Given the description of an element on the screen output the (x, y) to click on. 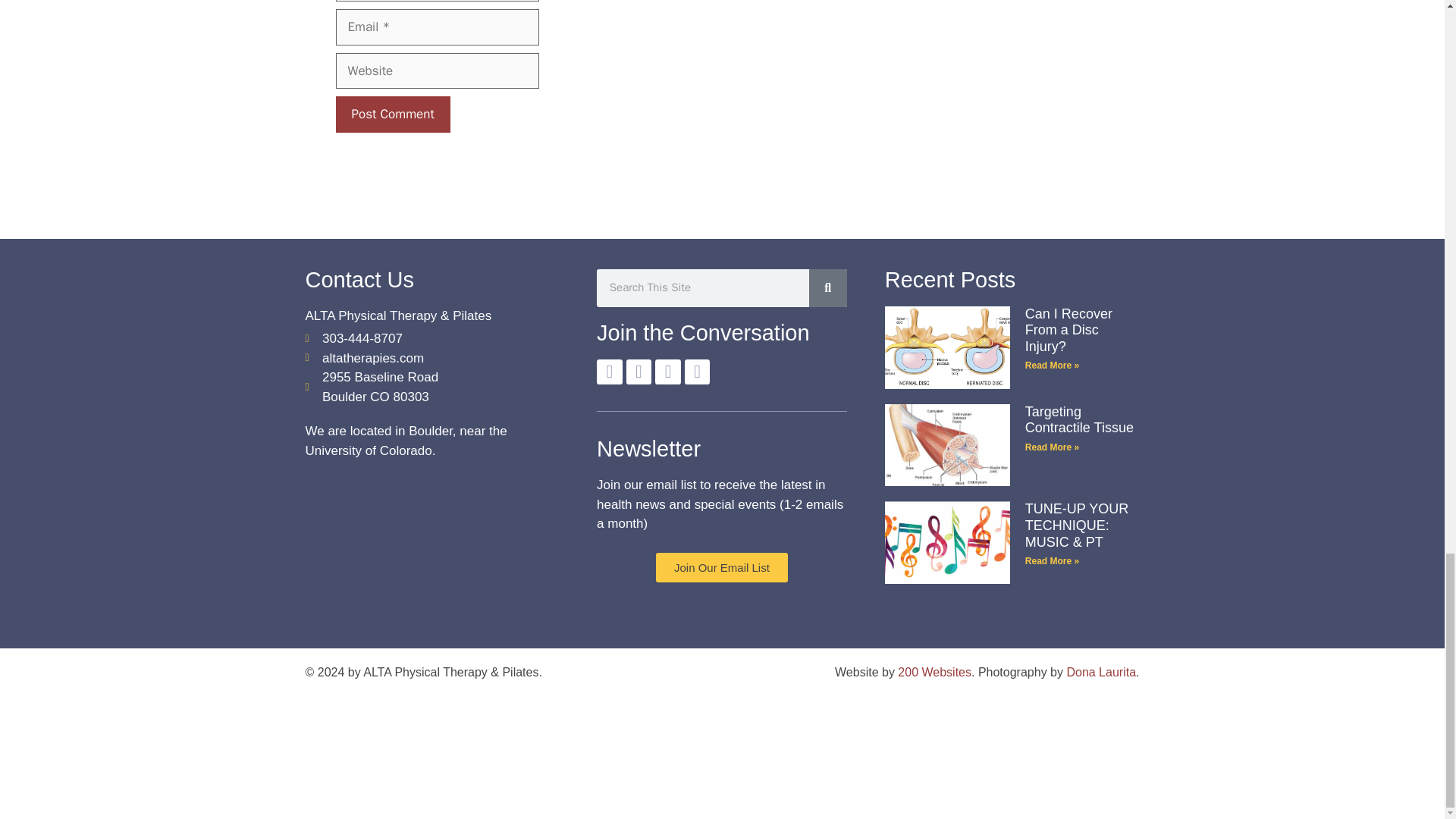
Post Comment (391, 114)
